Given the description of an element on the screen output the (x, y) to click on. 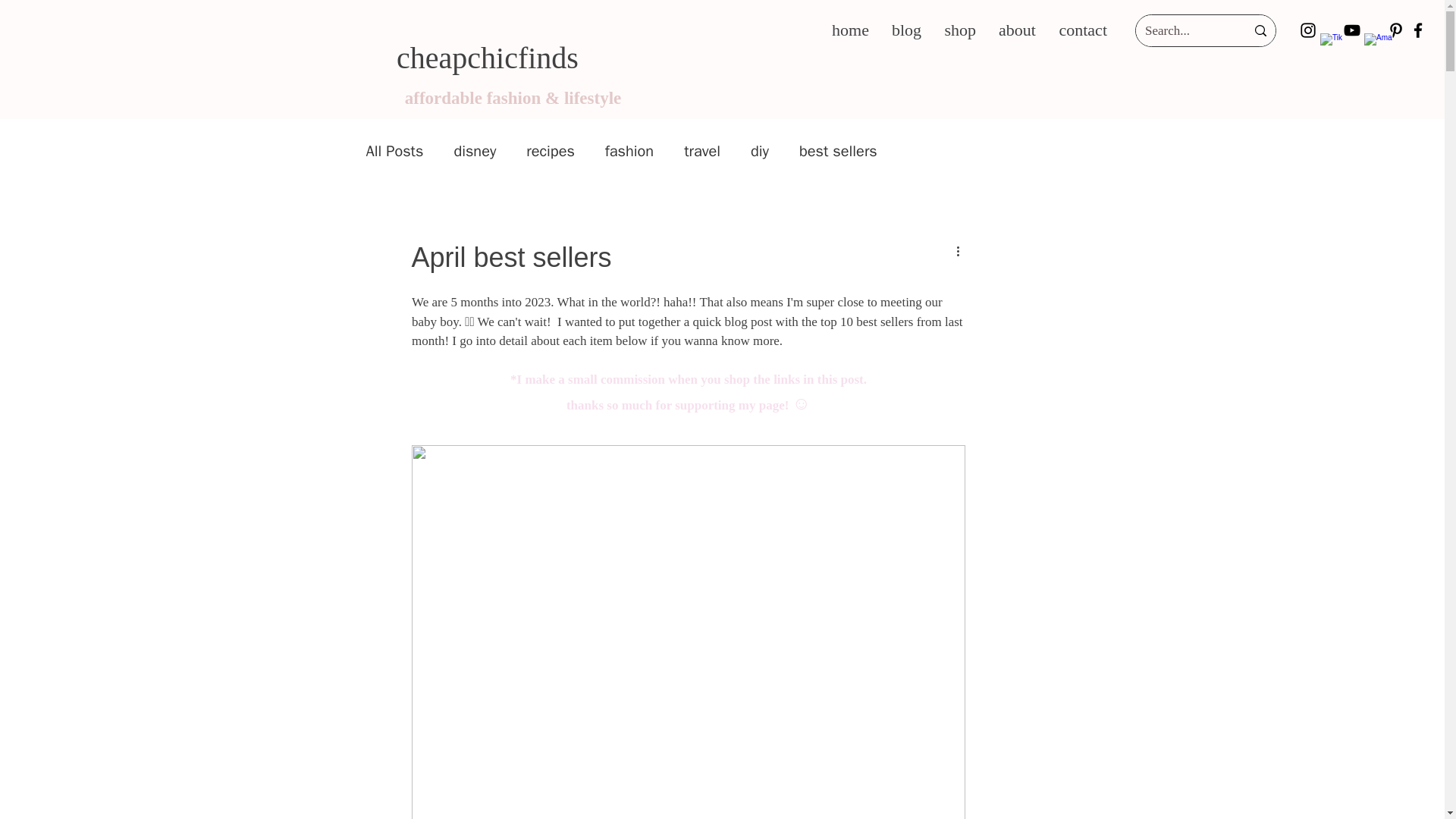
best sellers (838, 150)
about (1016, 30)
diy (759, 150)
fashion (629, 150)
travel (702, 150)
cheapchicfinds (487, 57)
shop (960, 30)
All Posts (394, 150)
blog (906, 30)
contact (1082, 30)
